Given the description of an element on the screen output the (x, y) to click on. 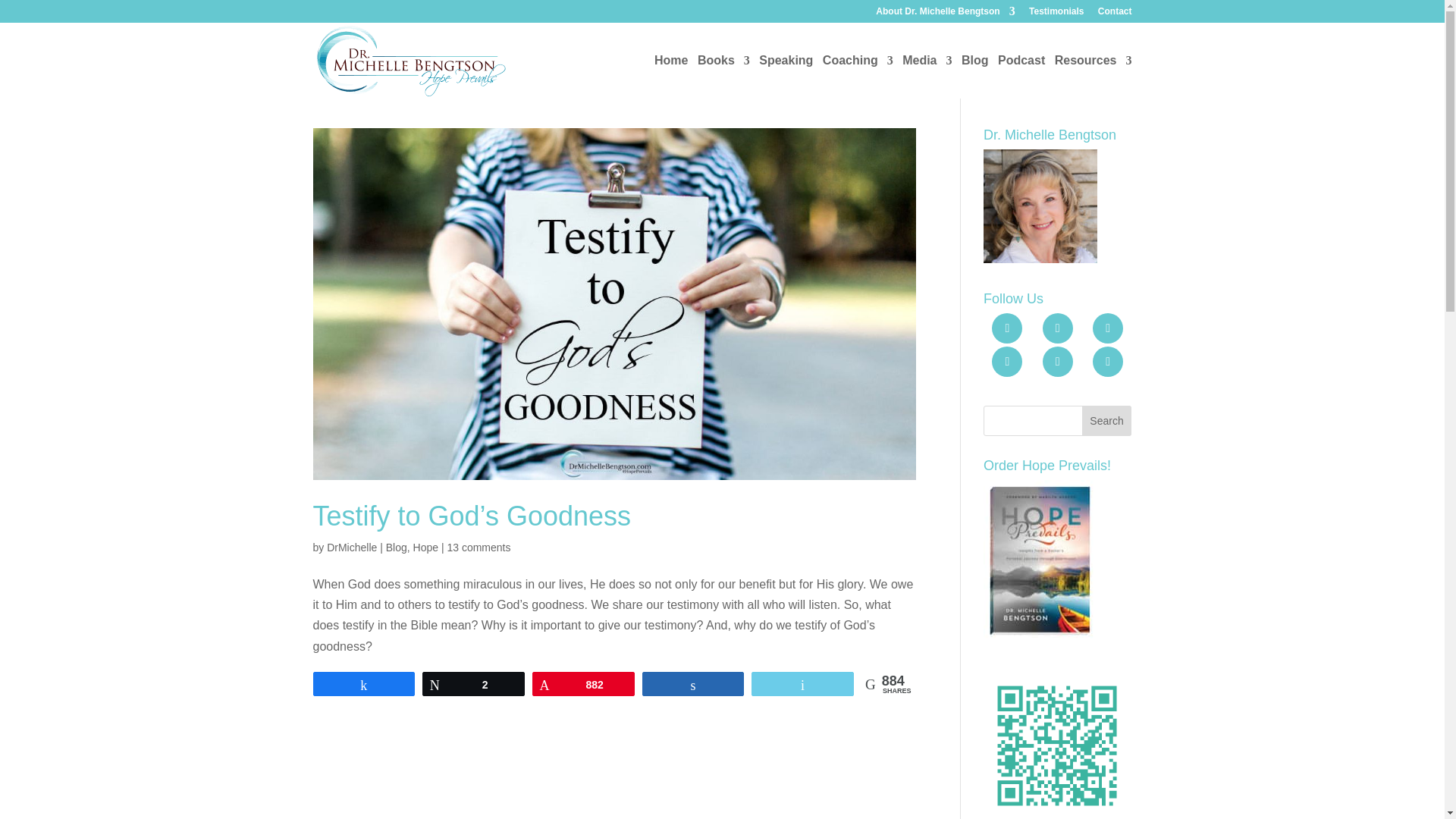
Posts by DrMichelle (351, 547)
Testimonials (1056, 14)
Podcast (1021, 76)
Resources (1093, 76)
Search (1106, 420)
Media (927, 76)
Books (723, 76)
Coaching (857, 76)
Speaking (785, 76)
Contact (1114, 14)
